Given the description of an element on the screen output the (x, y) to click on. 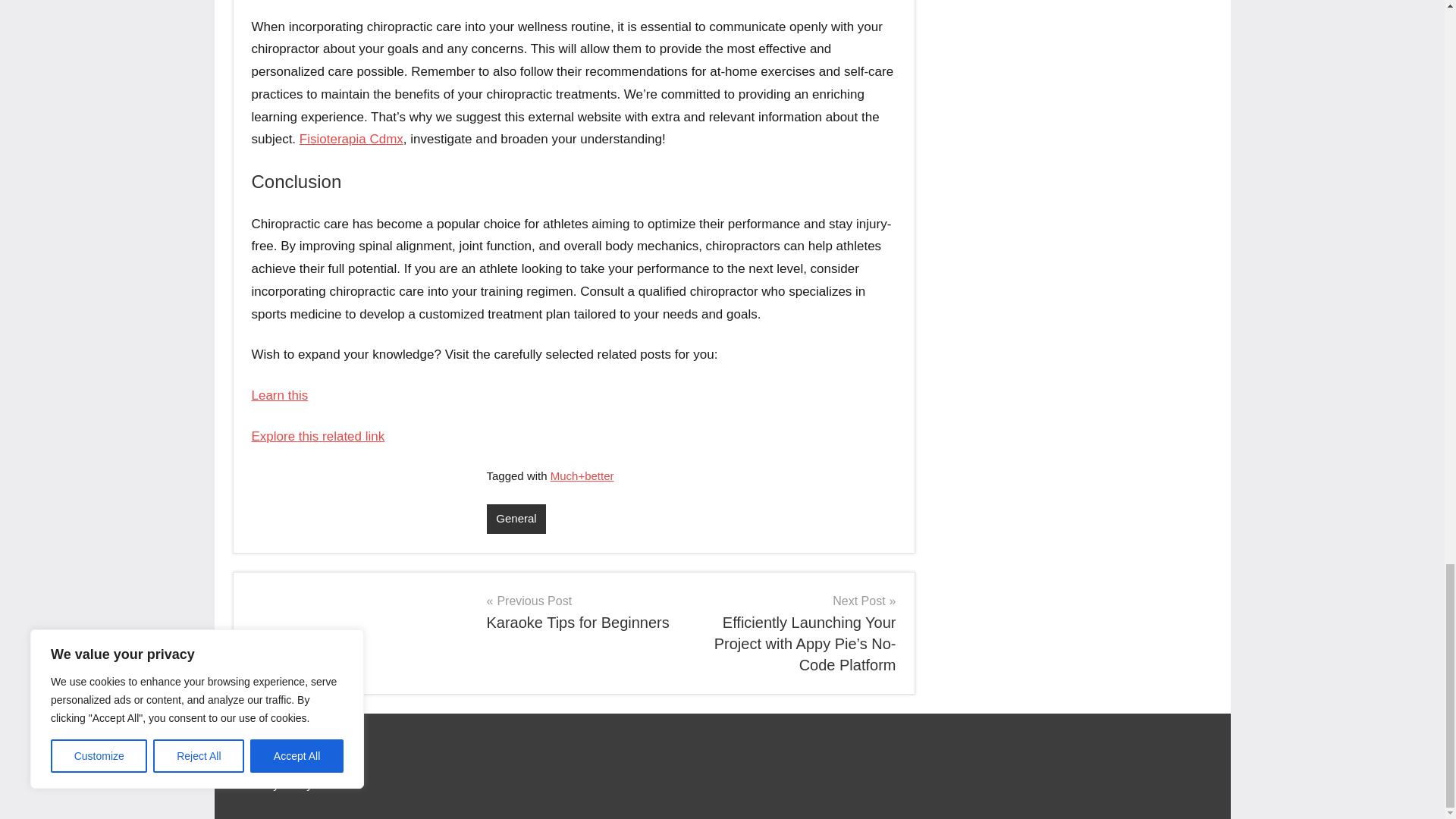
Fisioterapia Cdmx (351, 138)
General (516, 518)
Explore this related link (318, 436)
Learn this (279, 395)
